Given the description of an element on the screen output the (x, y) to click on. 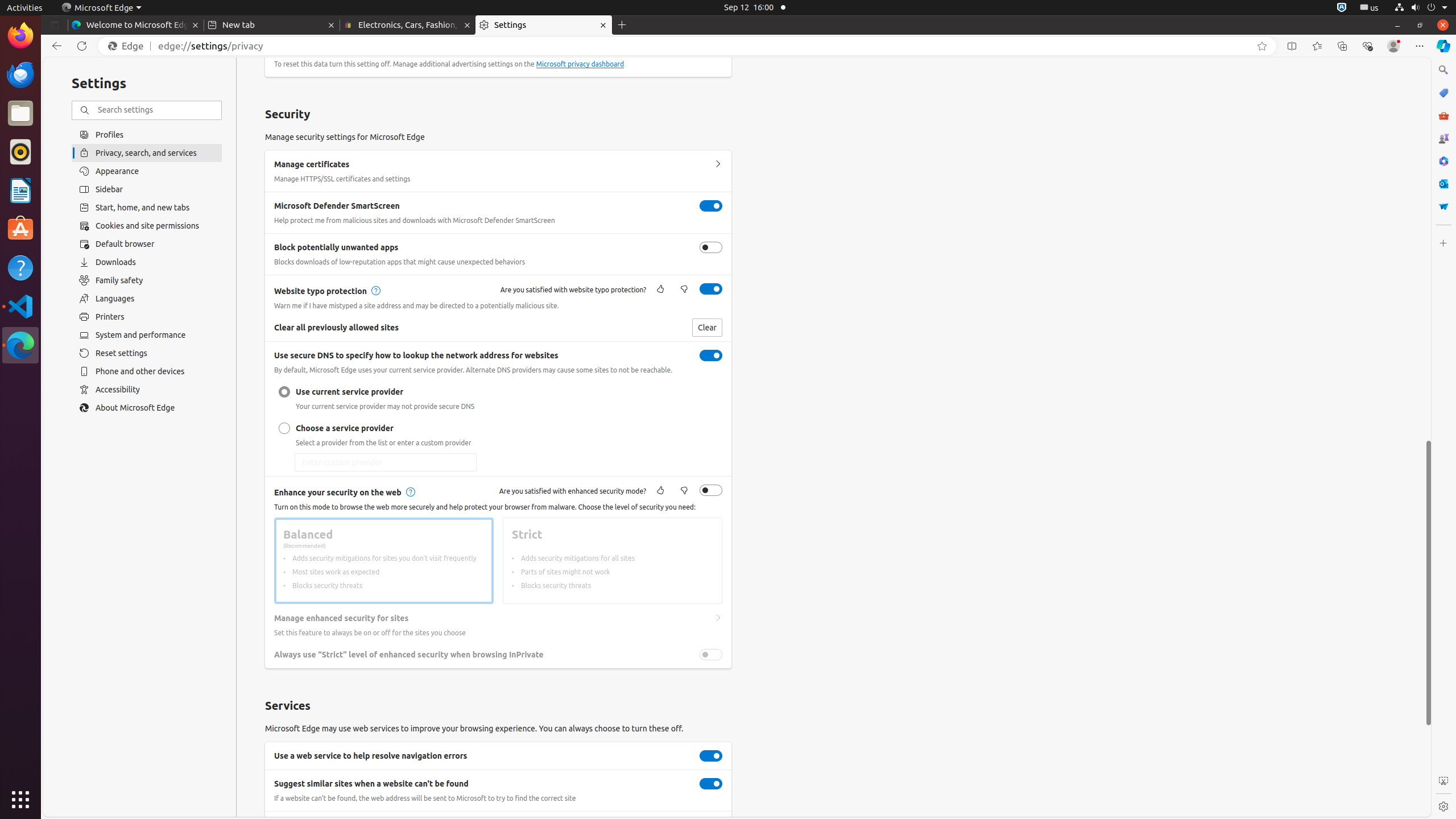
Like Element type: toggle-button (660, 491)
Rhythmbox Element type: push-button (20, 151)
Microsoft Edge Element type: push-button (20, 344)
Thunderbird Mail Element type: push-button (20, 74)
Suggest similar sites when a website can't be found Element type: check-box (710, 783)
